Given the description of an element on the screen output the (x, y) to click on. 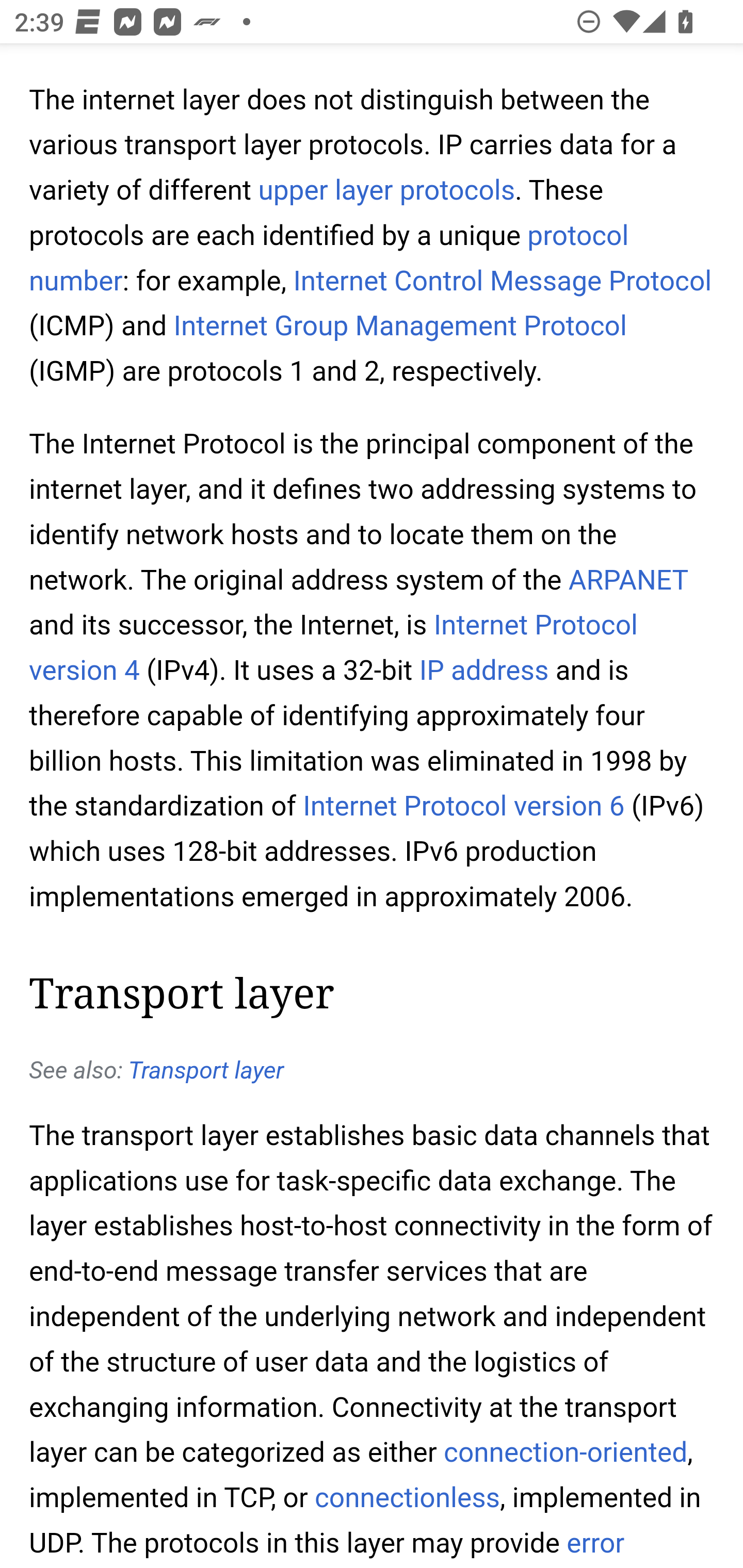
upper layer protocols (386, 192)
protocol number (329, 259)
Internet Control Message Protocol (502, 281)
Internet Group Management Protocol (400, 327)
ARPANET (627, 581)
Internet Protocol version 4 (333, 649)
IP address (484, 672)
Internet Protocol version 6 (463, 807)
Transport layer (205, 1070)
connection-oriented (565, 1453)
connectionless (408, 1498)
error control (327, 1547)
